Given the description of an element on the screen output the (x, y) to click on. 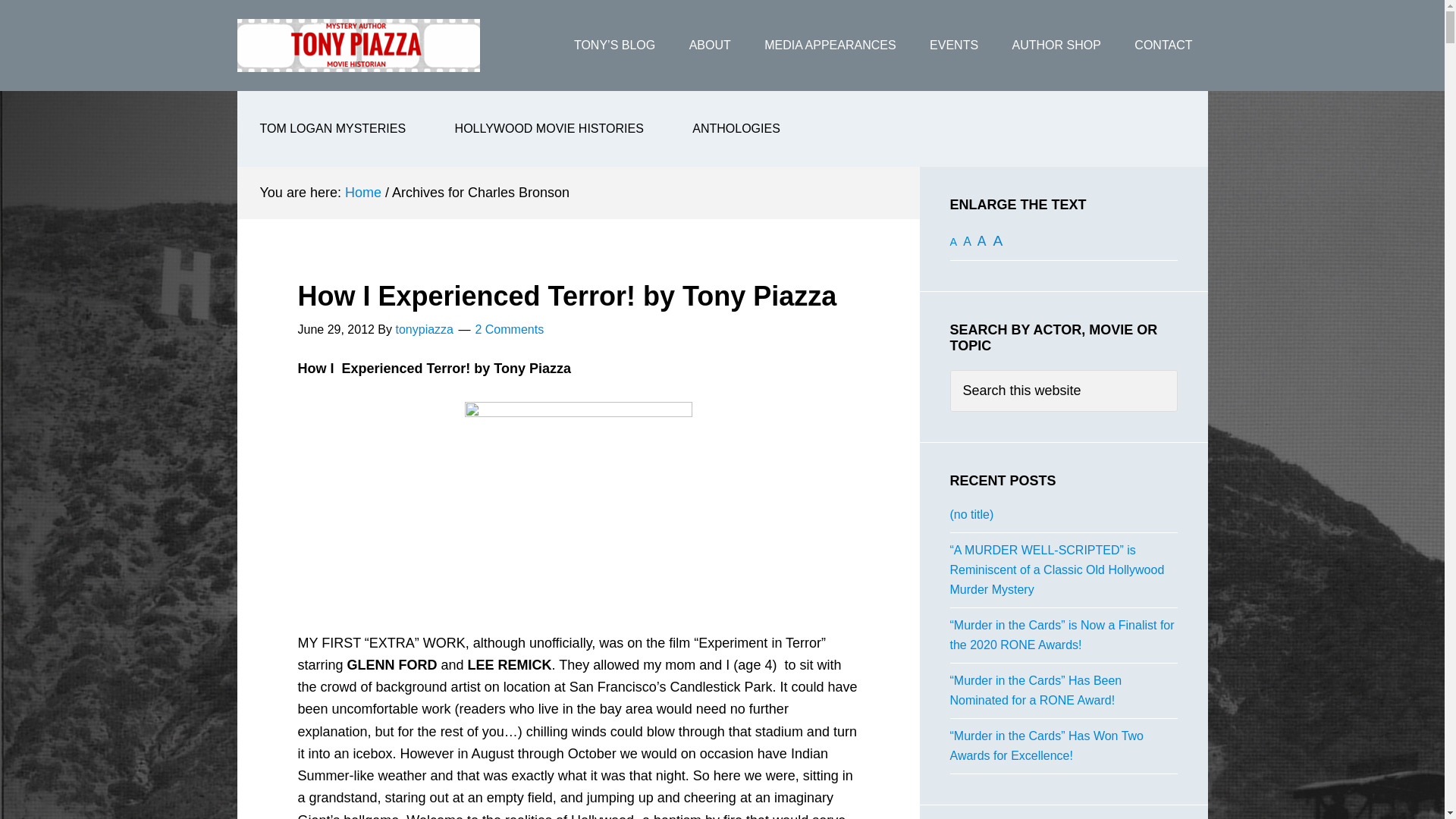
AUTHOR SHOP (1056, 45)
ABOUT (709, 45)
2 Comments (508, 328)
How I Experienced Terror! by Tony Piazza (566, 296)
TOM LOGAN MYSTERIES (331, 128)
Home (363, 192)
MEDIA APPEARANCES (830, 45)
tonypiazza (423, 328)
CONTACT (1163, 45)
EVENTS (953, 45)
ANTHOLOGIES (736, 128)
Author Tony Piazza (357, 45)
HOLLYWOOD MOVIE HISTORIES (549, 128)
